Given the description of an element on the screen output the (x, y) to click on. 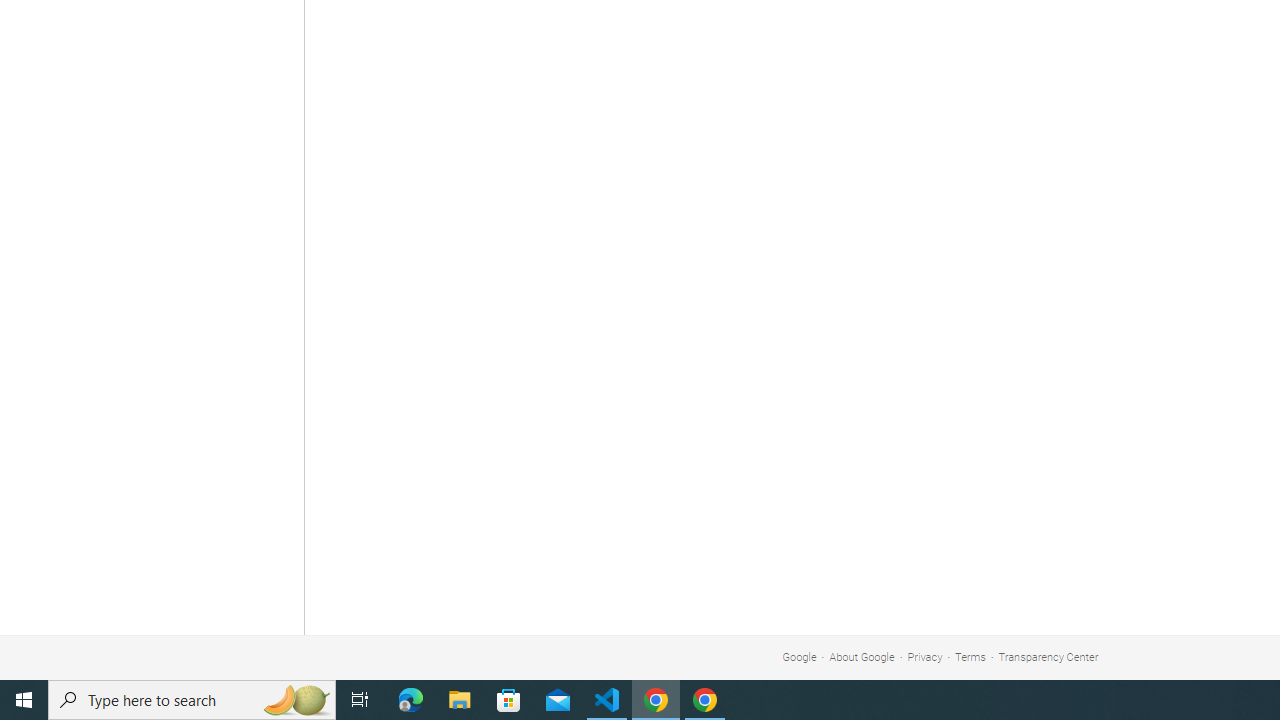
Transparency Center (1048, 656)
About Google (861, 656)
